Given the description of an element on the screen output the (x, y) to click on. 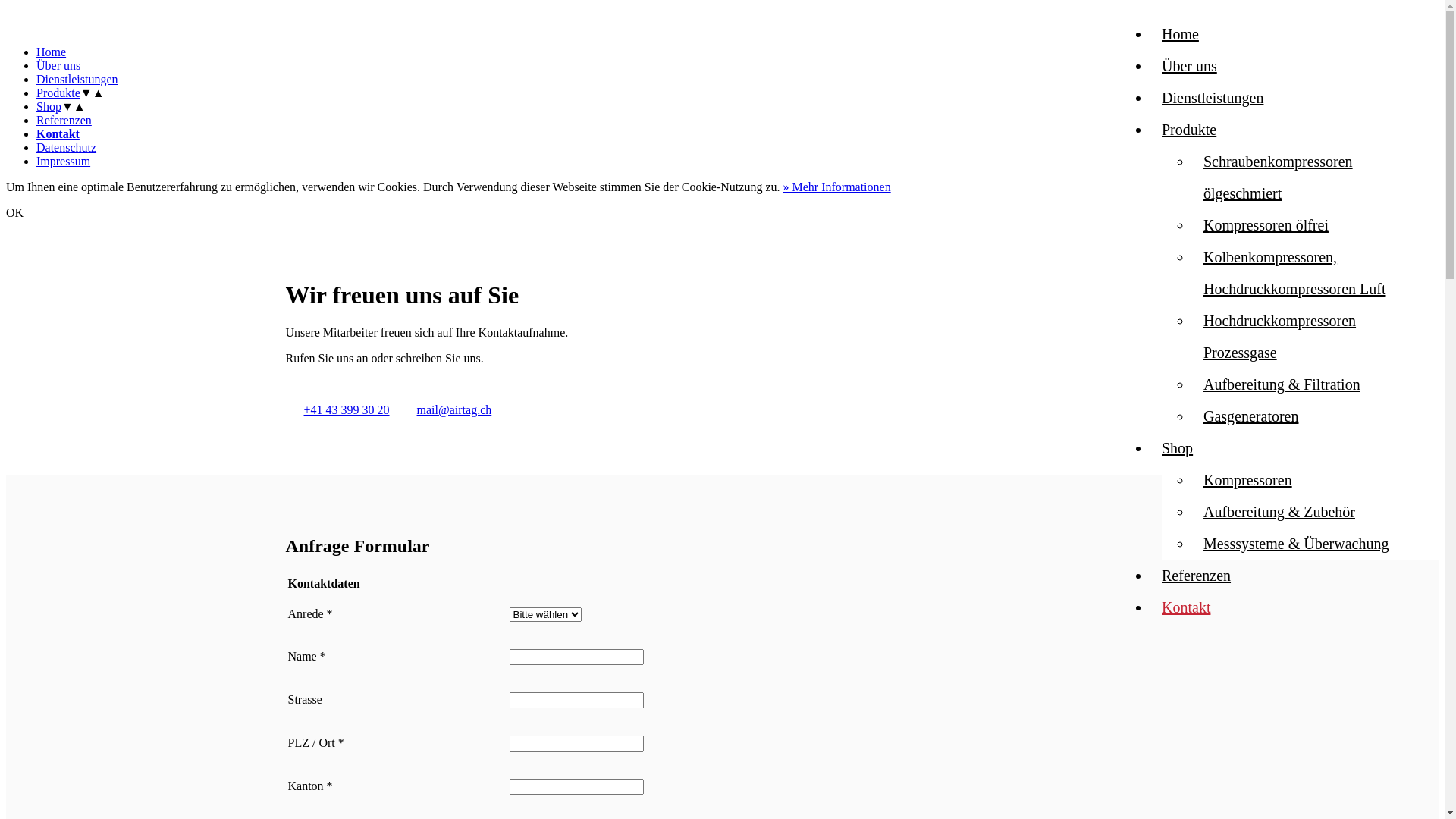
Home Element type: text (50, 51)
Hochdruckkompressoren Prozessgase Element type: text (1279, 336)
Impressum Element type: text (63, 160)
+41 43 399 30 20 Element type: text (346, 409)
mail@airtag.ch Element type: text (454, 409)
Aufbereitung & Filtration Element type: text (1281, 384)
Produkte Element type: text (58, 92)
Referenzen Element type: text (63, 119)
Produkte Element type: text (1188, 129)
Referenzen Element type: text (1195, 575)
Kontakt Element type: text (57, 133)
Shop Element type: text (1176, 447)
Home Element type: text (1179, 33)
Dienstleistungen Element type: text (1212, 97)
Kolbenkompressoren, Hochdruckkompressoren Luft Element type: text (1294, 272)
Shop Element type: text (48, 106)
Kontakt Element type: text (1185, 607)
Dienstleistungen Element type: text (77, 78)
Datenschutz Element type: text (66, 147)
Gasgeneratoren Element type: text (1251, 415)
OK Element type: text (14, 212)
Kompressoren Element type: text (1247, 479)
